Given the description of an element on the screen output the (x, y) to click on. 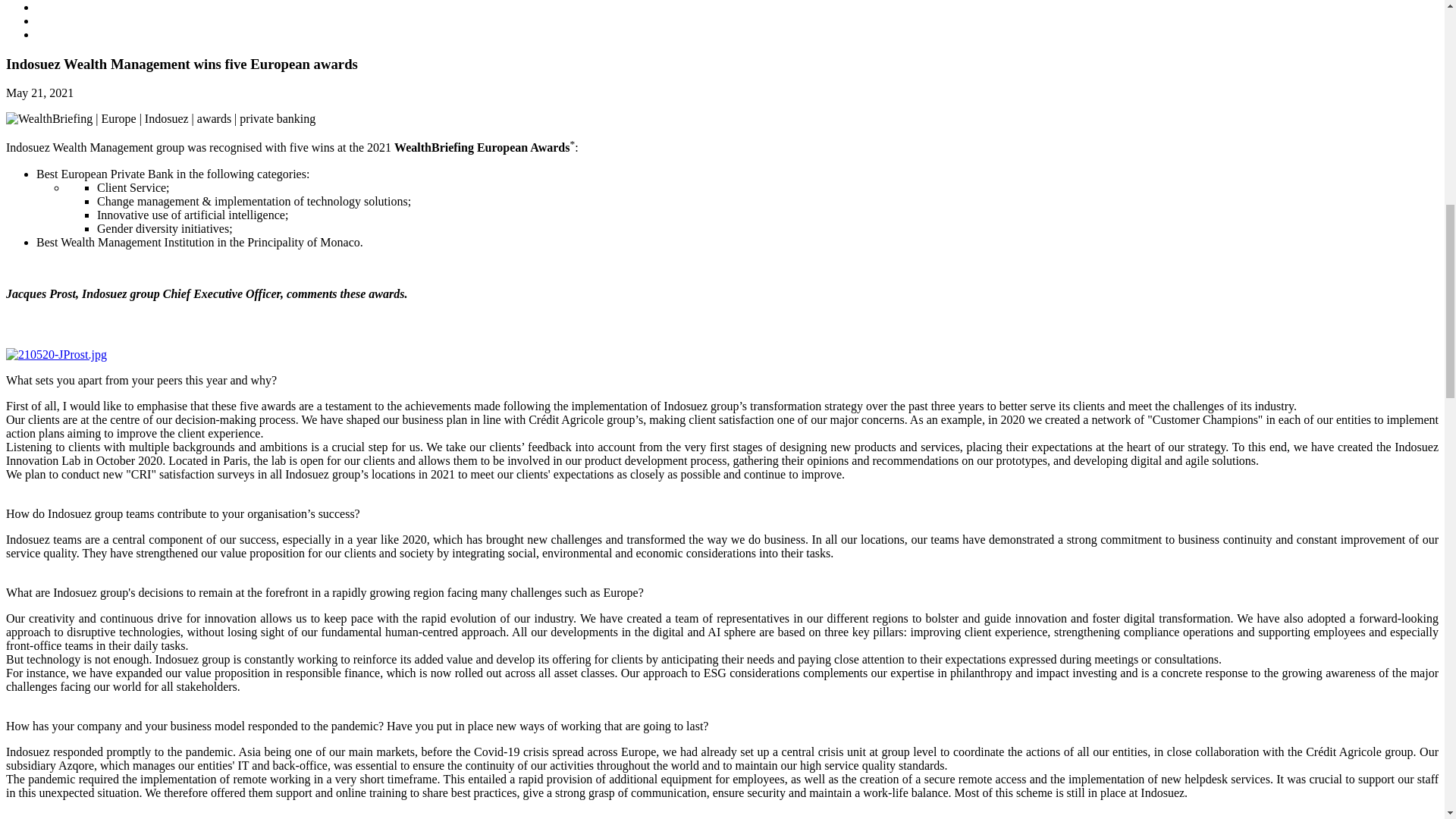
Click for larger image (55, 354)
